Given the description of an element on the screen output the (x, y) to click on. 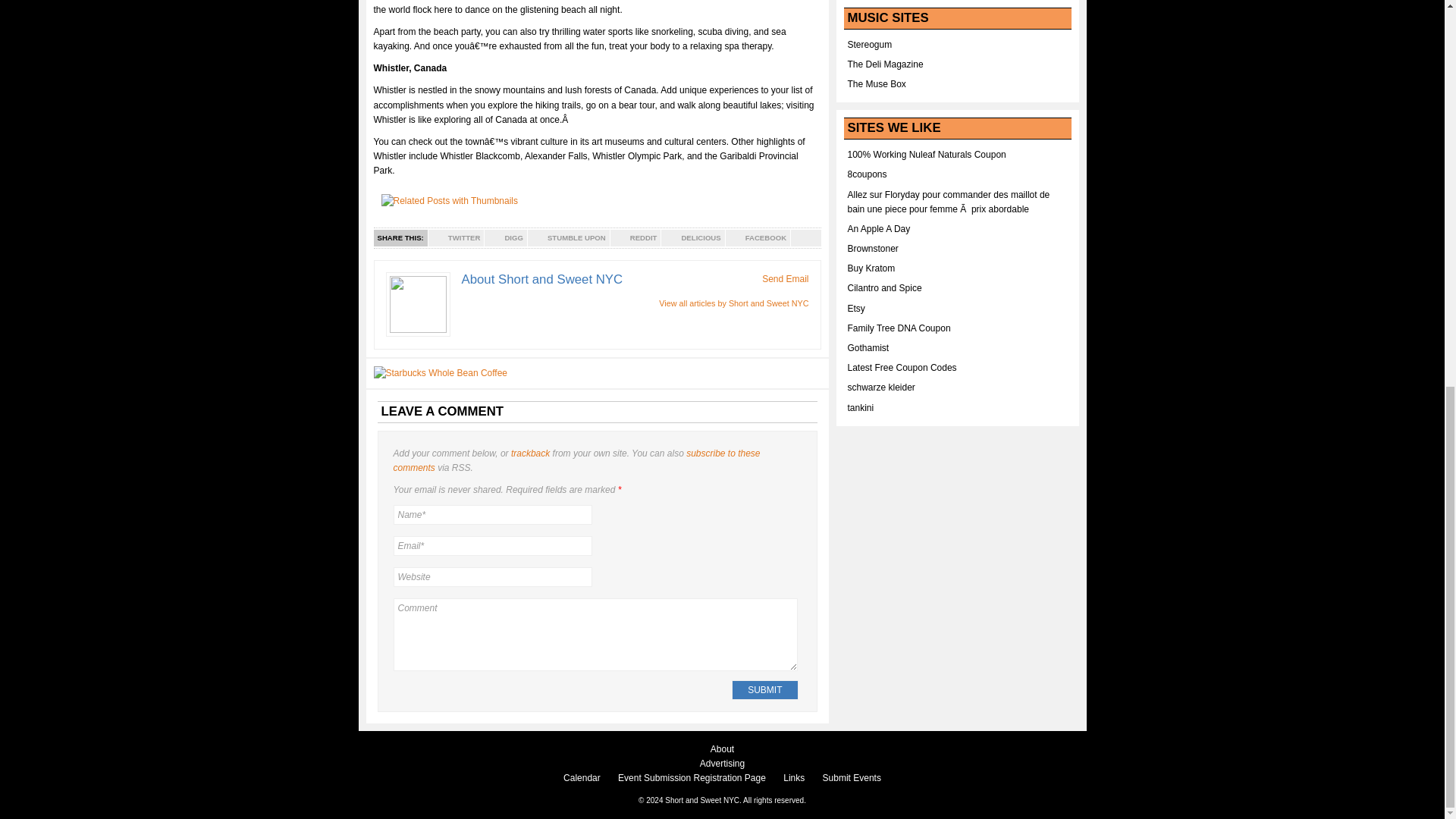
View all posts by Short and Sweet NYC (733, 302)
tankini (861, 407)
Verified Family Tree DNA Coupon (898, 327)
Website (492, 577)
Submit (764, 690)
